Given the description of an element on the screen output the (x, y) to click on. 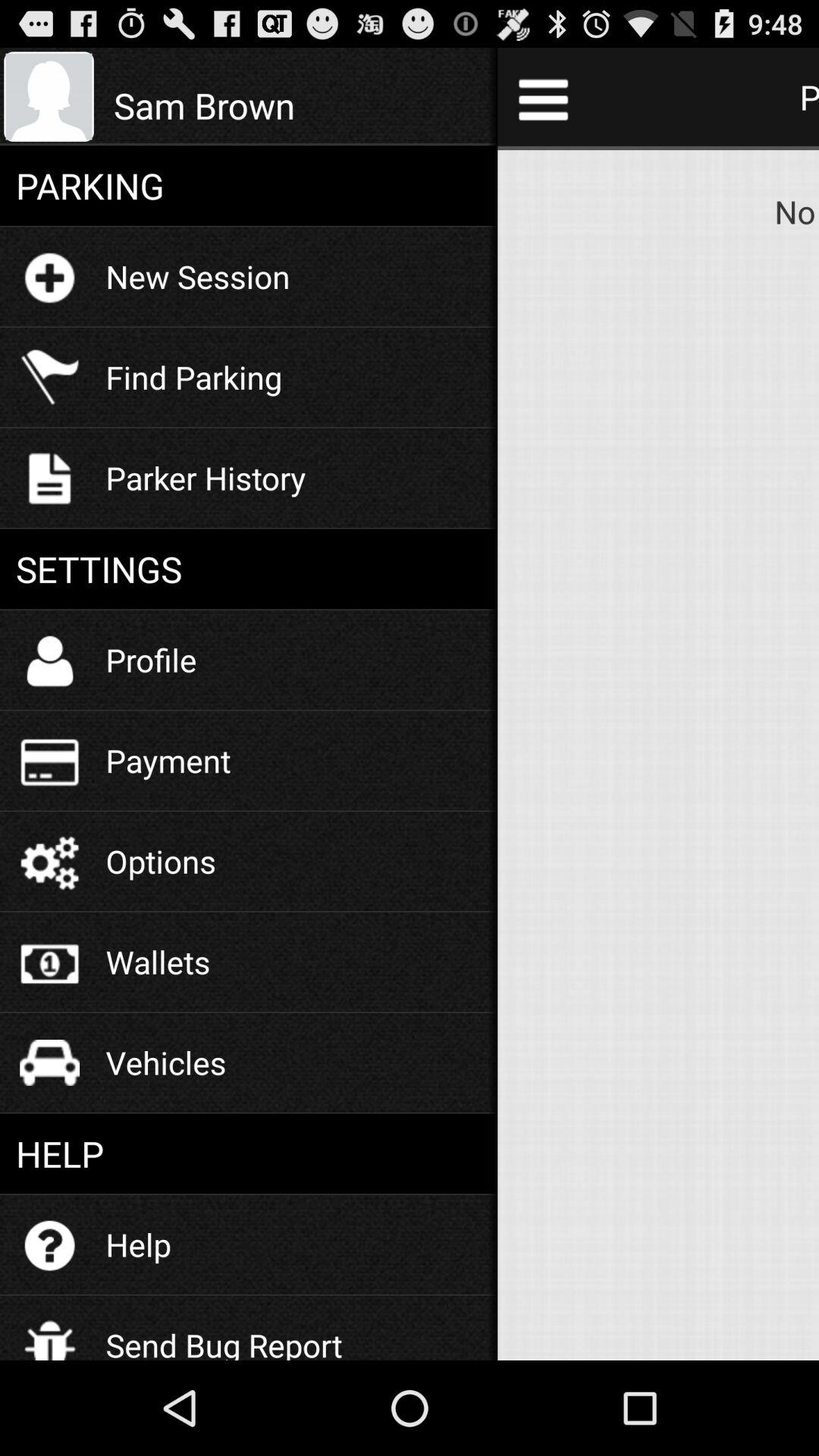
turn off the find parking icon (193, 376)
